Given the description of an element on the screen output the (x, y) to click on. 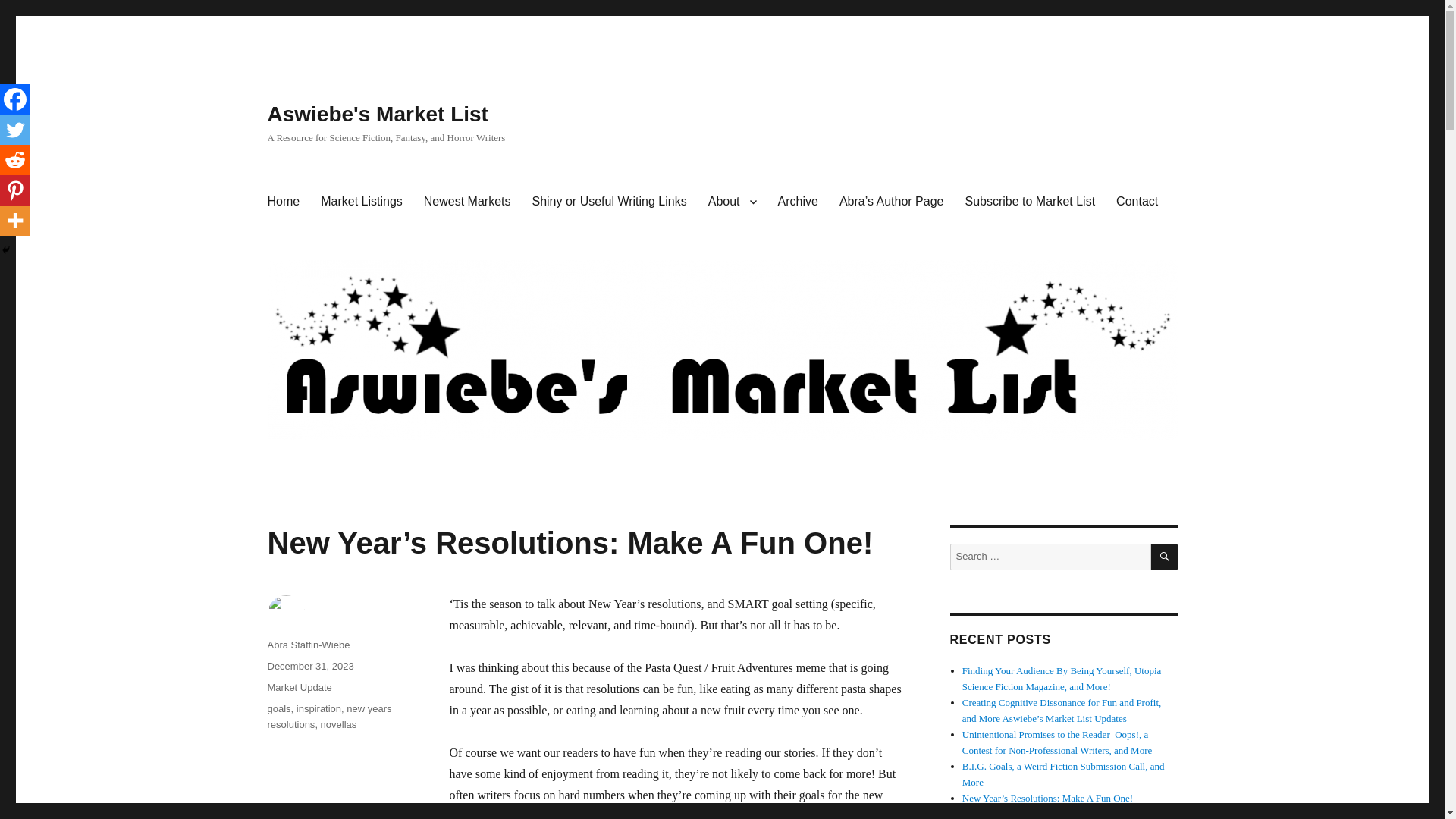
Market Listings (361, 201)
Facebook (15, 99)
More (15, 220)
Aswiebe's Market List (376, 114)
About (732, 201)
Archive (797, 201)
Newest Markets (467, 201)
Twitter (15, 129)
Hide (5, 250)
Contact (1137, 201)
